Given the description of an element on the screen output the (x, y) to click on. 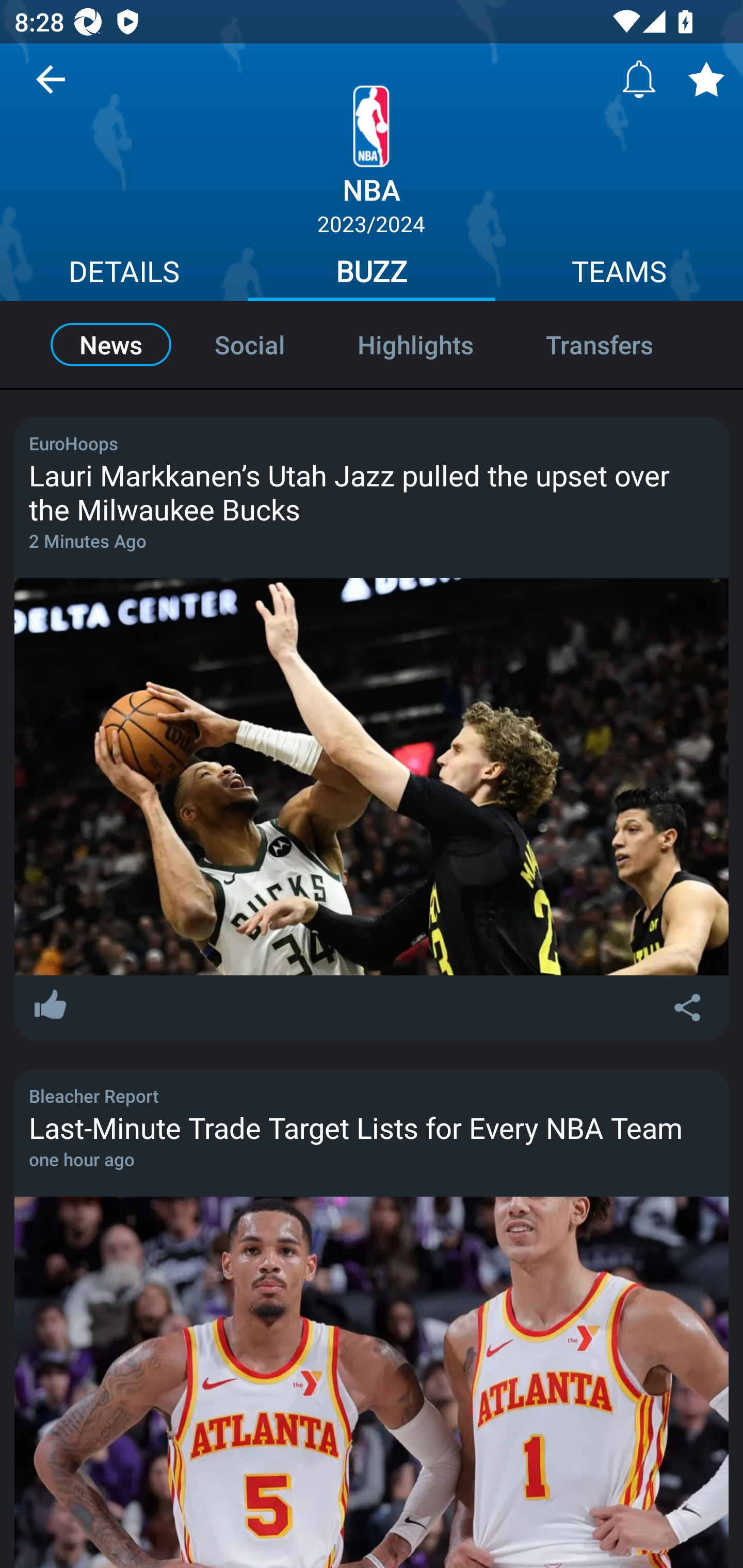
Navigate up (50, 86)
DETAILS (123, 274)
BUZZ (371, 274)
TEAMS (619, 274)
Social (249, 344)
Highlights (415, 344)
Transfers (621, 344)
